Given the description of an element on the screen output the (x, y) to click on. 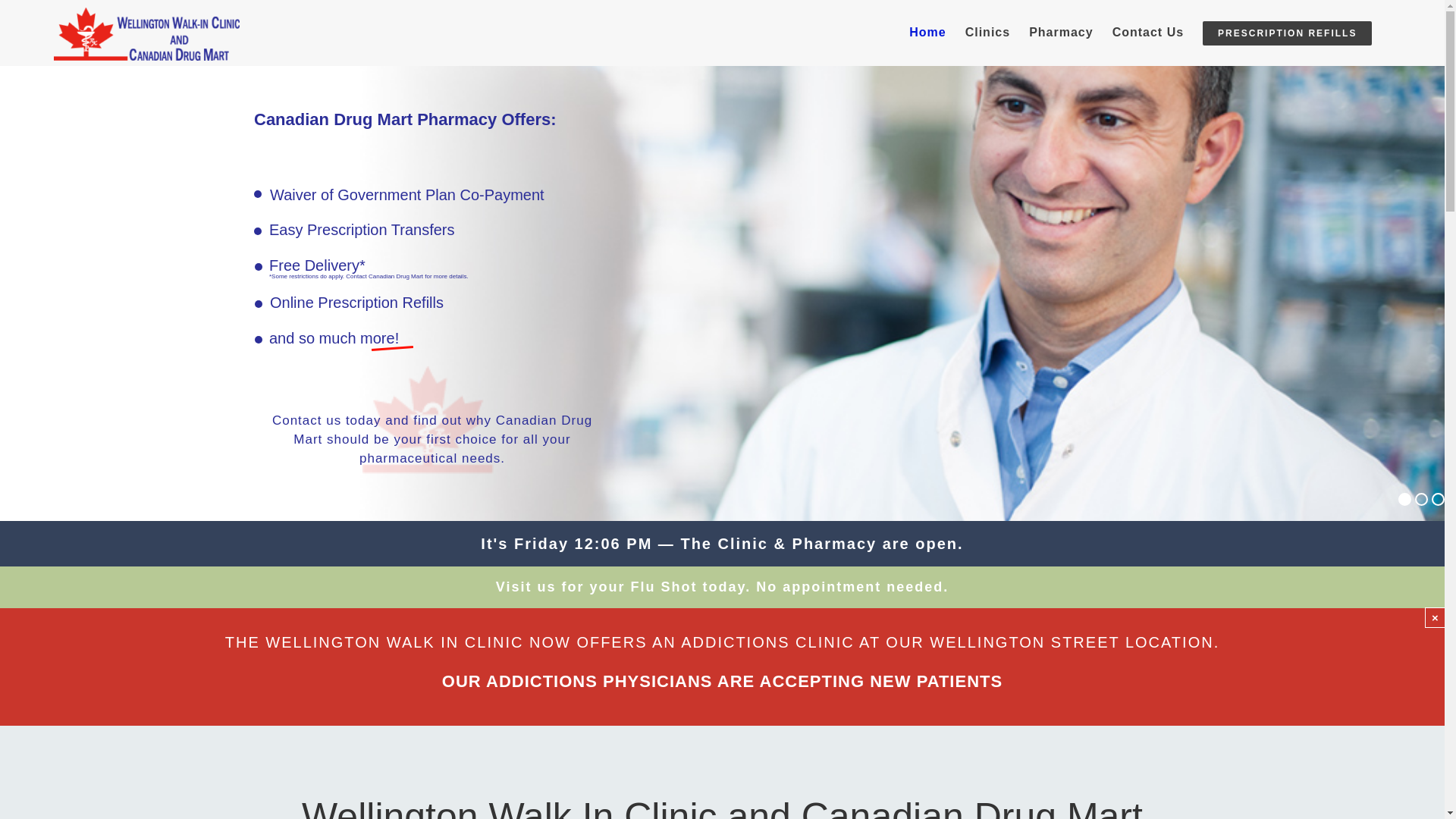
Contact Us Element type: text (1147, 32)
PRESCRIPTION REFILLS Element type: text (1286, 32)
Pharmacy Element type: text (1061, 32)
Visit us for your Flu Shot today. No appointment needed. Element type: text (722, 587)
Clinics Element type: text (987, 32)
Home Element type: text (927, 32)
